Given the description of an element on the screen output the (x, y) to click on. 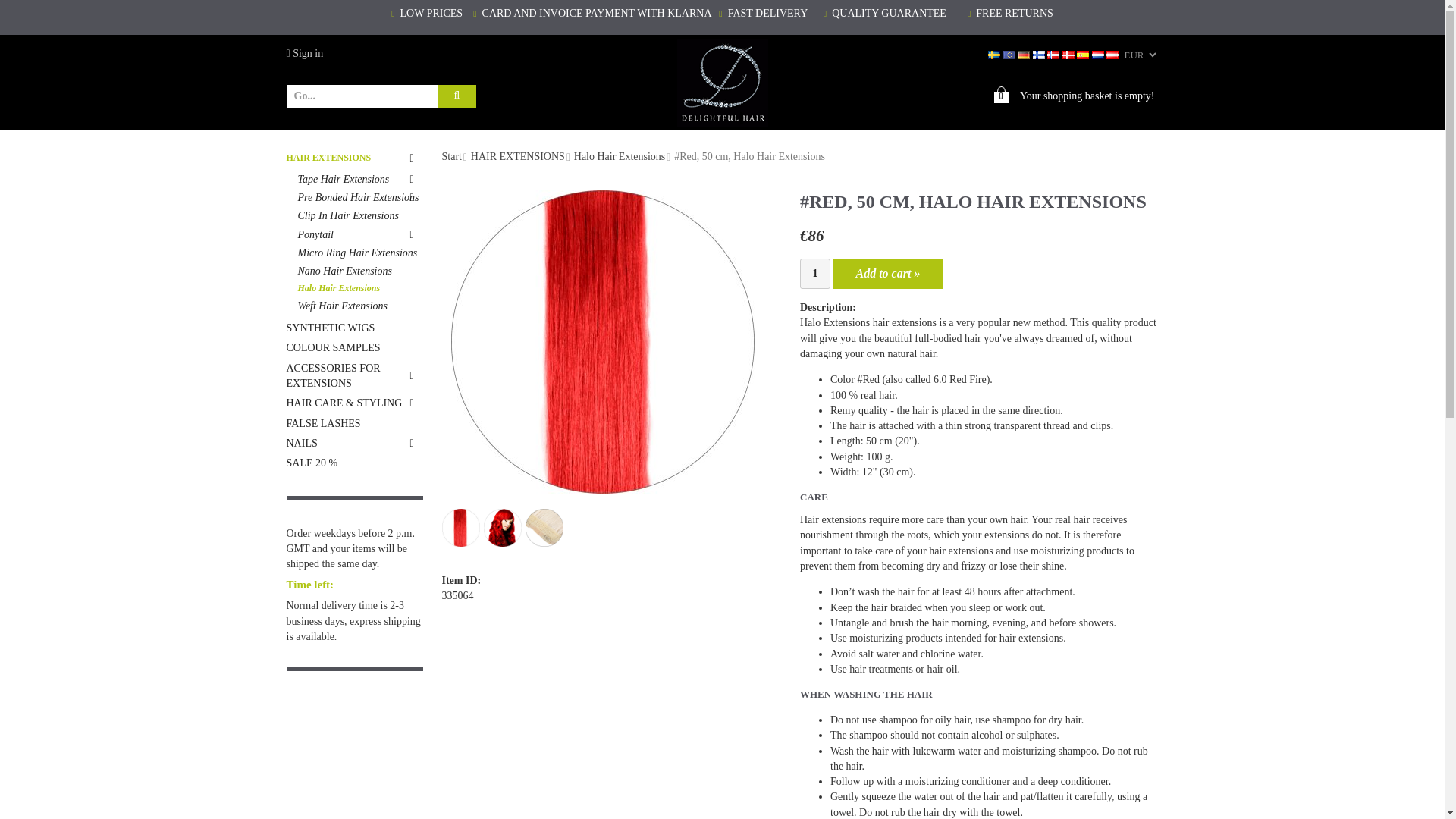
Tape Hair Extensions (359, 179)
Dansk (1069, 52)
Deutsch (1024, 52)
Go... (365, 96)
Weft Hair Extensions (359, 306)
HAIR EXTENSIONS (354, 158)
Ponytail (359, 235)
Norsk (1054, 52)
COLOUR SAMPLES (354, 347)
HAIR EXTENSIONS (354, 158)
ACCESSORIES FOR EXTENSIONS (354, 375)
Nederlands (1099, 52)
Nano Hair Extensions (359, 271)
Sign in (304, 52)
Pre Bonded Hair Extensions (359, 198)
